Given the description of an element on the screen output the (x, y) to click on. 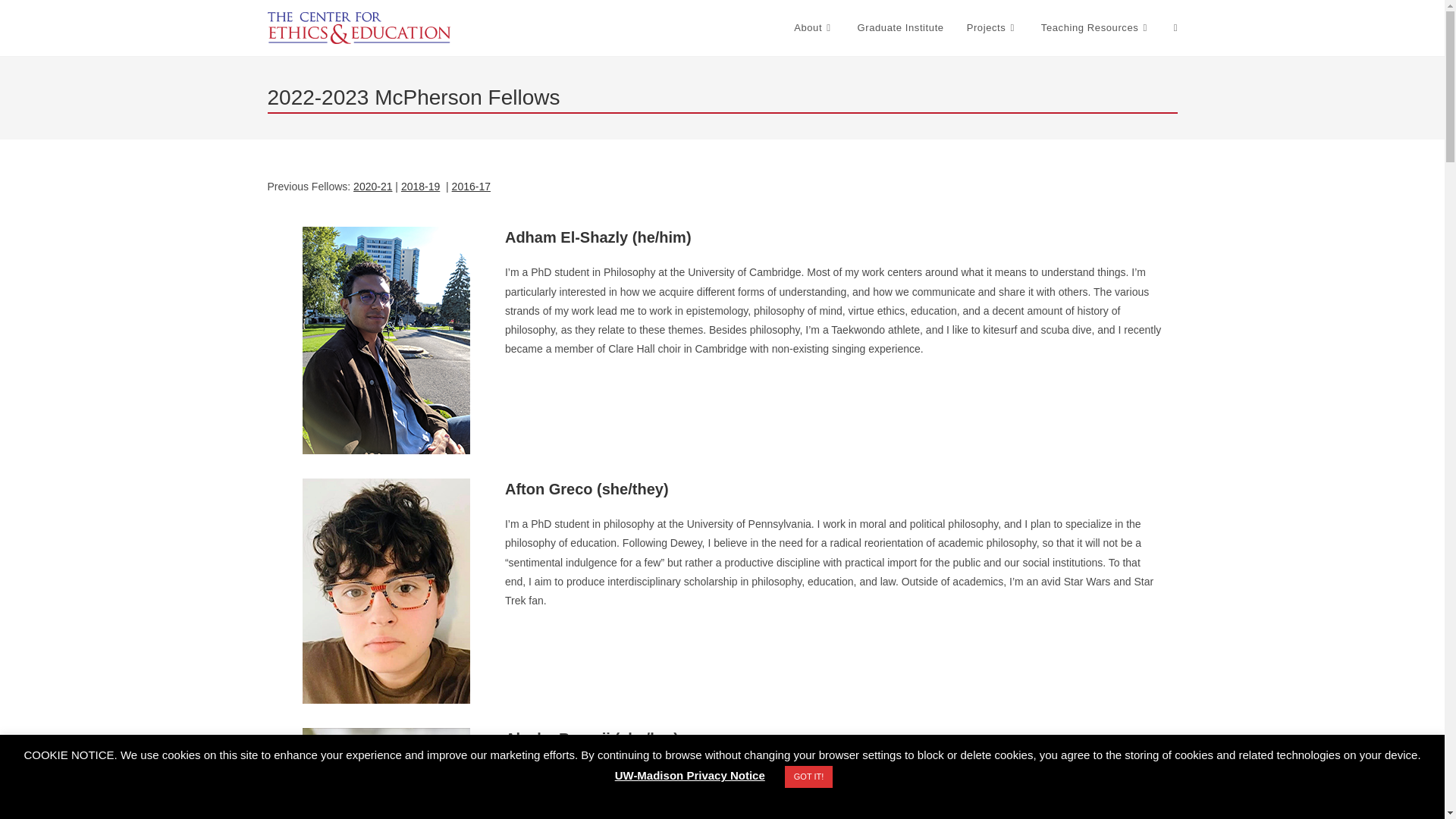
2020-21 (372, 186)
Graduate Institute (900, 28)
About (814, 28)
Teaching Resources (1095, 28)
2016-17 (470, 186)
2018-19 (420, 186)
Projects (992, 28)
